Given the description of an element on the screen output the (x, y) to click on. 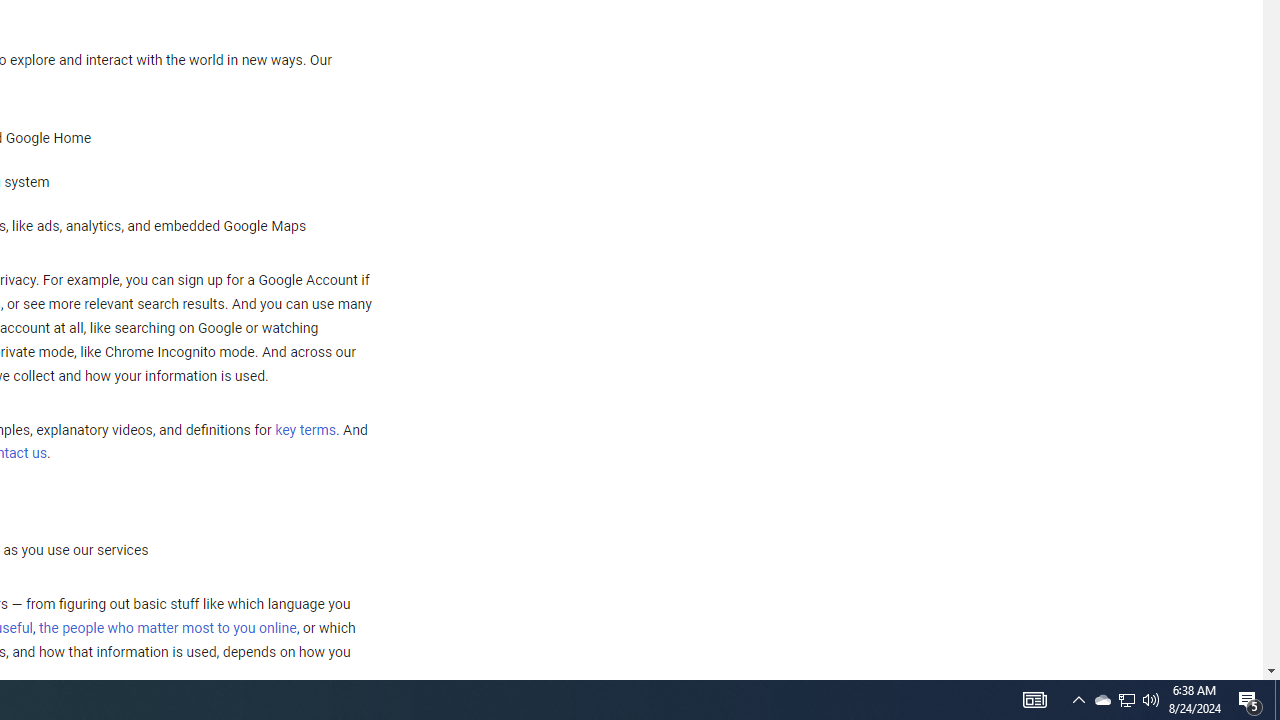
key terms (305, 430)
the people who matter most to you online (167, 628)
